Given the description of an element on the screen output the (x, y) to click on. 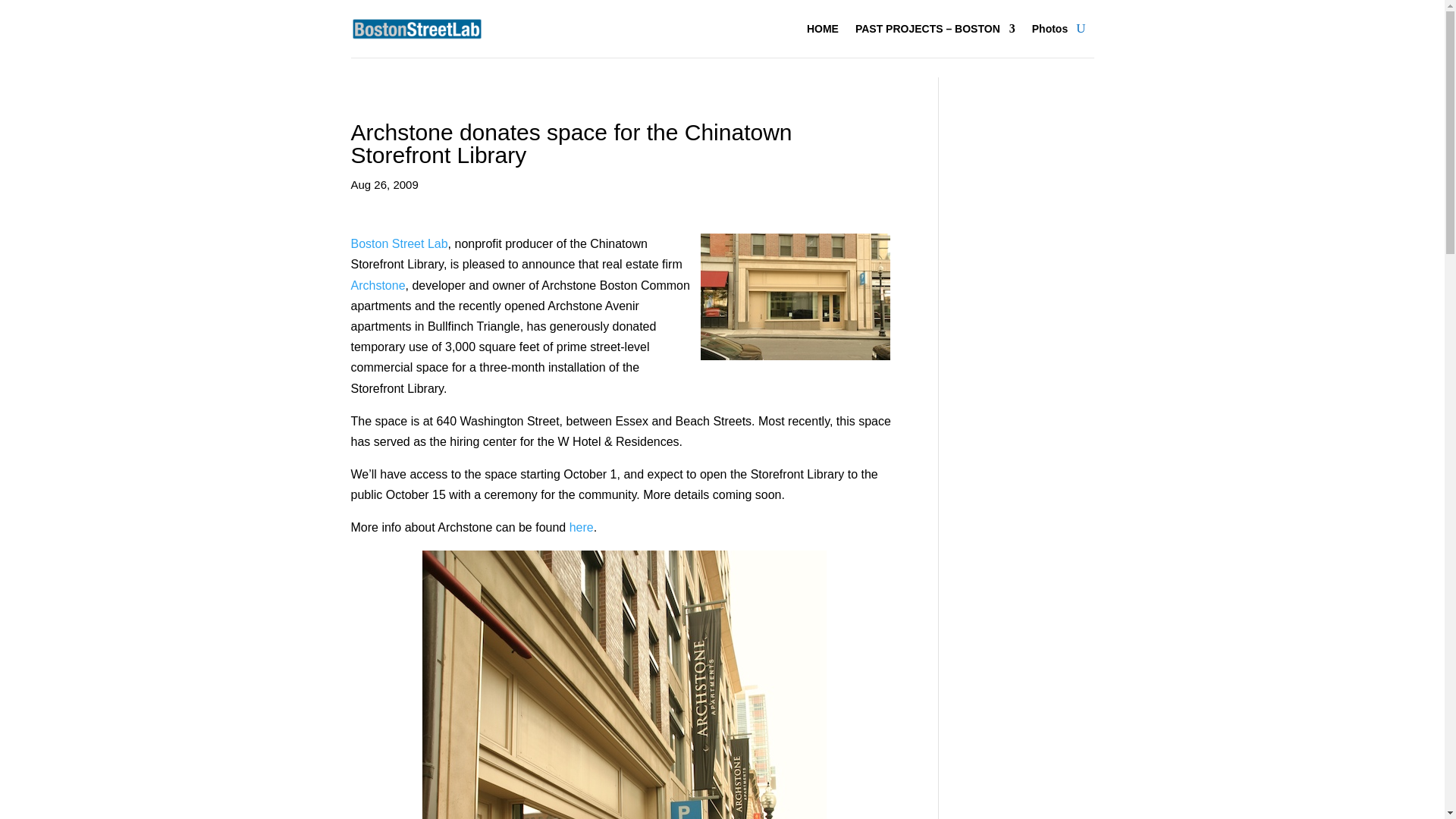
here (581, 526)
Boston Street Lab (398, 243)
archstone-4 (794, 296)
Archstone (377, 285)
Archstone (581, 526)
Boston Street Lab, Inc. (398, 243)
Archstone (377, 285)
